Given the description of an element on the screen output the (x, y) to click on. 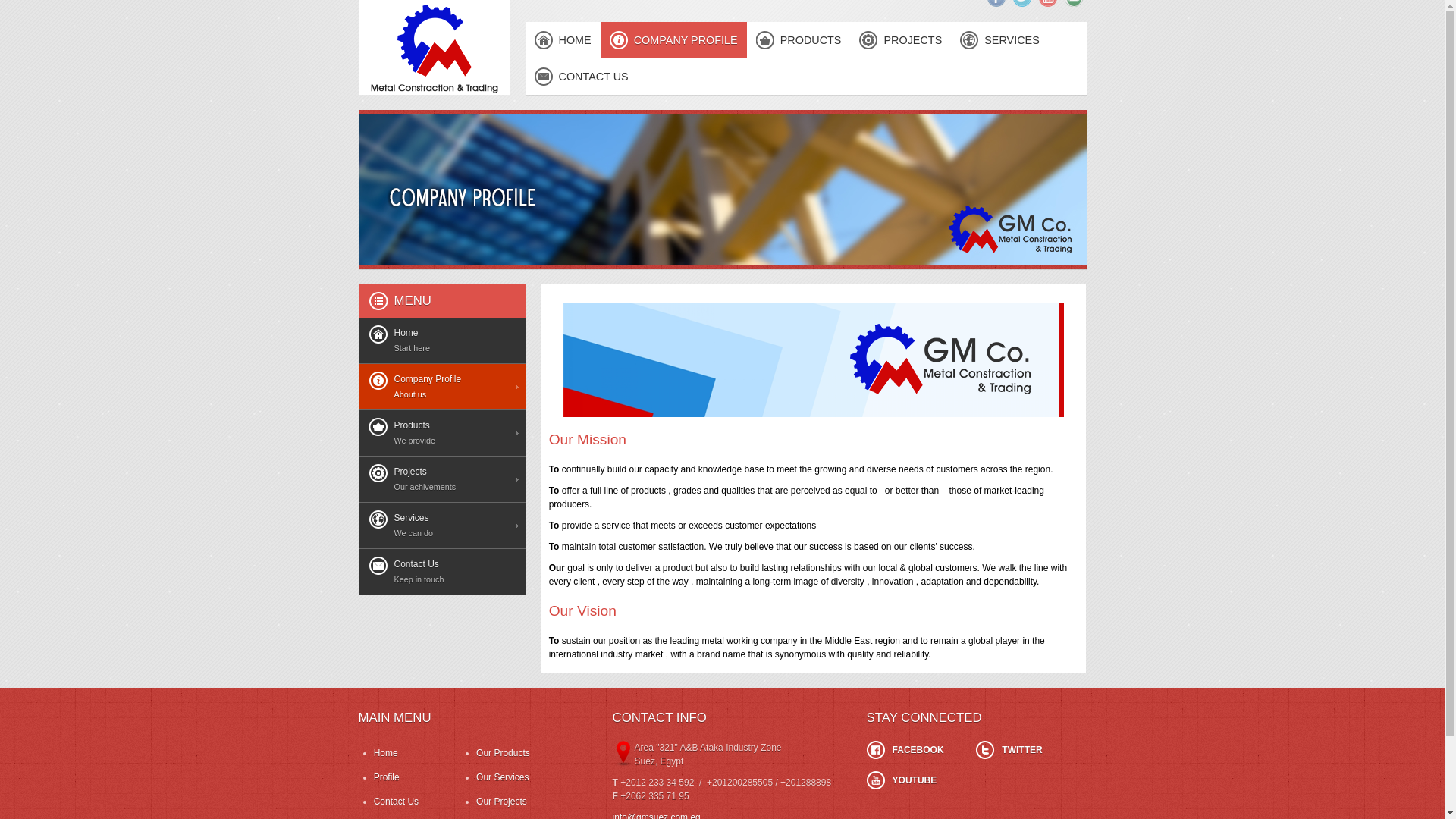
SERVICES (999, 40)
Email (1073, 3)
Our achivements (900, 40)
YouTube (1048, 3)
Twitter (1021, 3)
Start here (561, 40)
We provide (798, 40)
About us (672, 40)
Our achivements (441, 479)
PRODUCTS (798, 40)
Keep in touch (580, 76)
CONTACT US (580, 76)
Email (1073, 3)
Facebook (996, 3)
Facebook (996, 3)
